Given the description of an element on the screen output the (x, y) to click on. 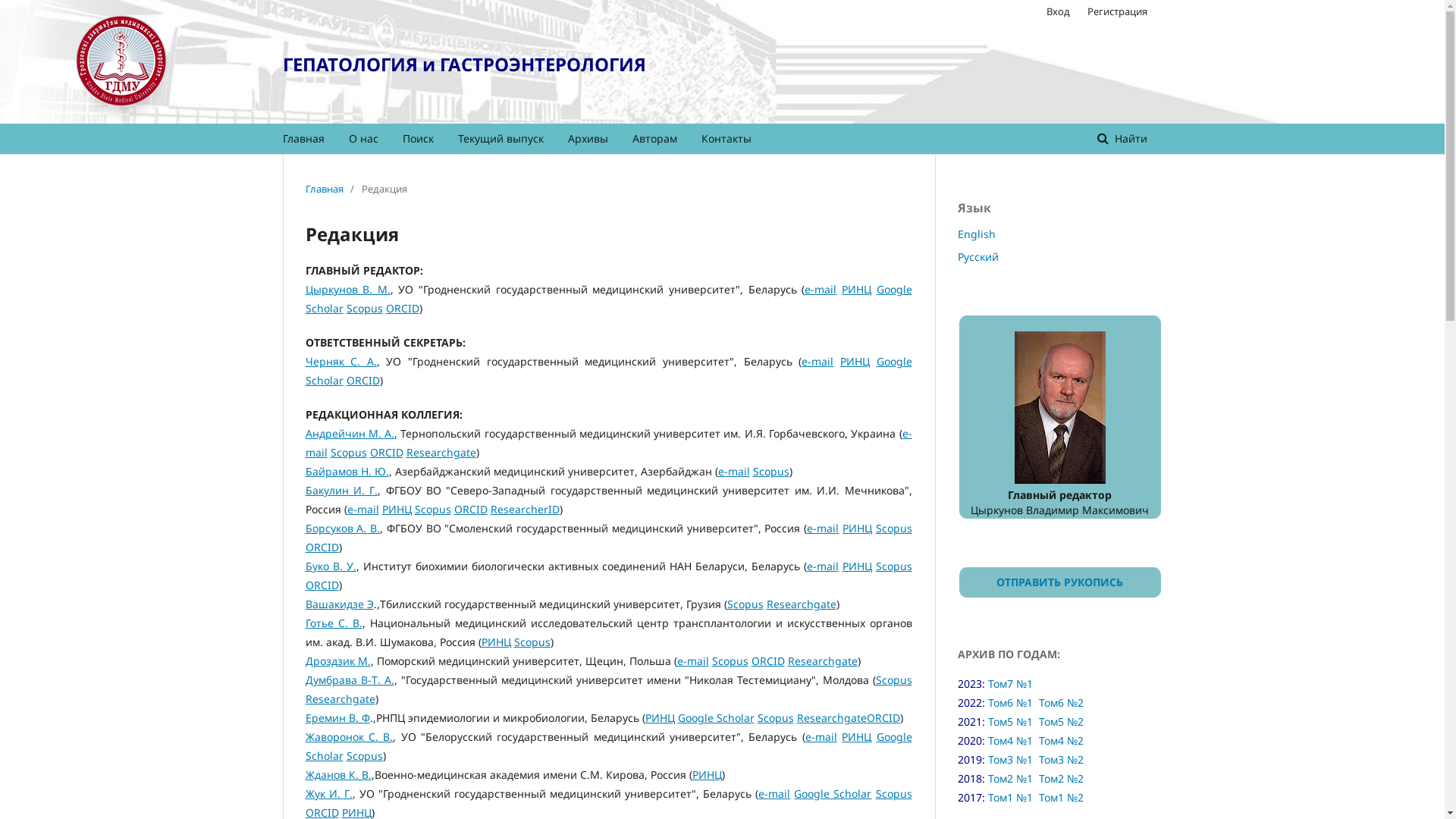
Google Scholar Element type: text (607, 370)
Scopus Element type: text (774, 717)
ORCID Element type: text (362, 380)
Researchgate Element type: text (800, 603)
Scopus Element type: text (532, 641)
Scopus Element type: text (744, 603)
ORCID Element type: text (386, 452)
Scopus Element type: text (893, 679)
Researchgate Element type: text (441, 452)
English Element type: text (975, 233)
Scopus Element type: text (348, 452)
Scopus Element type: text (893, 565)
Scopus Element type: text (893, 793)
Scopus Element type: text (363, 308)
e-mail Element type: text (822, 565)
Google Scholar Element type: text (607, 298)
ORCID Element type: text (767, 660)
Scopus Element type: text (893, 527)
e-mail Element type: text (692, 660)
e-mail Element type: text (607, 442)
Google Scholar Element type: text (715, 717)
ORCID Element type: text (882, 717)
Scopus Element type: text (432, 509)
e-mail Element type: text (820, 289)
Researchgate Element type: text (821, 660)
Scopus Element type: text (729, 660)
Google Scholar Element type: text (607, 745)
e-mail Element type: text (822, 527)
ResearcherID Element type: text (523, 509)
e-mail Element type: text (774, 793)
Researchgate Element type: text (831, 717)
ORCID Element type: text (469, 509)
e-mail Element type: text (821, 736)
e-mail Element type: text (733, 471)
Google Scholar Element type: text (832, 793)
Scopus Element type: text (363, 755)
ORCID Element type: text (321, 584)
e-mail Element type: text (363, 509)
e-mail Element type: text (817, 361)
Scopus Element type: text (770, 471)
Researchgate Element type: text (339, 698)
ORCID Element type: text (401, 308)
ORCID Element type: text (321, 546)
